Given the description of an element on the screen output the (x, y) to click on. 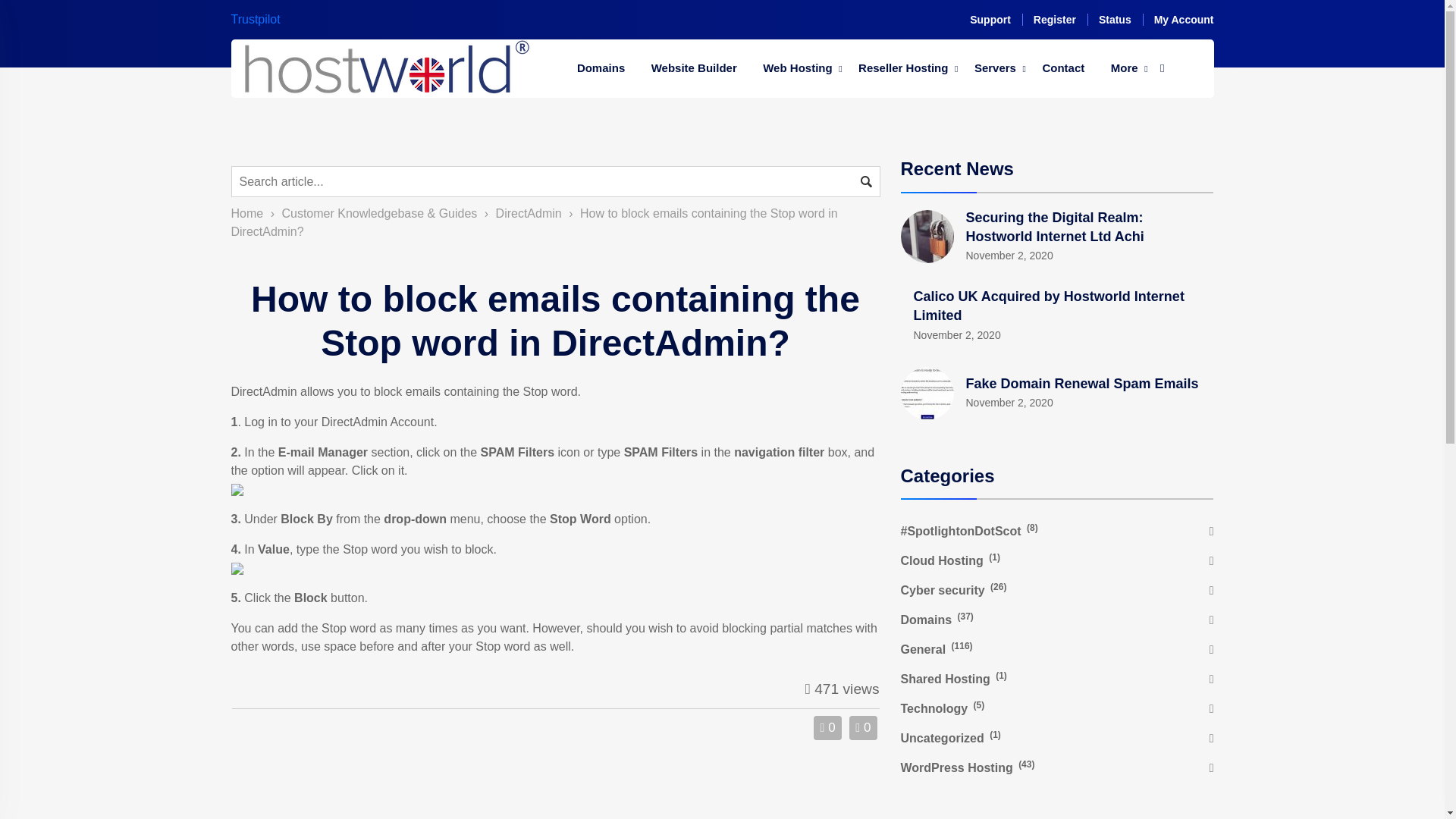
Contact (1063, 68)
Servers (994, 68)
Trustpilot (254, 19)
Web Hosting (797, 68)
More (1124, 68)
Website Builder (694, 68)
Web Hosting (797, 68)
Website Builder (694, 68)
More (1124, 68)
Support (989, 19)
